Given the description of an element on the screen output the (x, y) to click on. 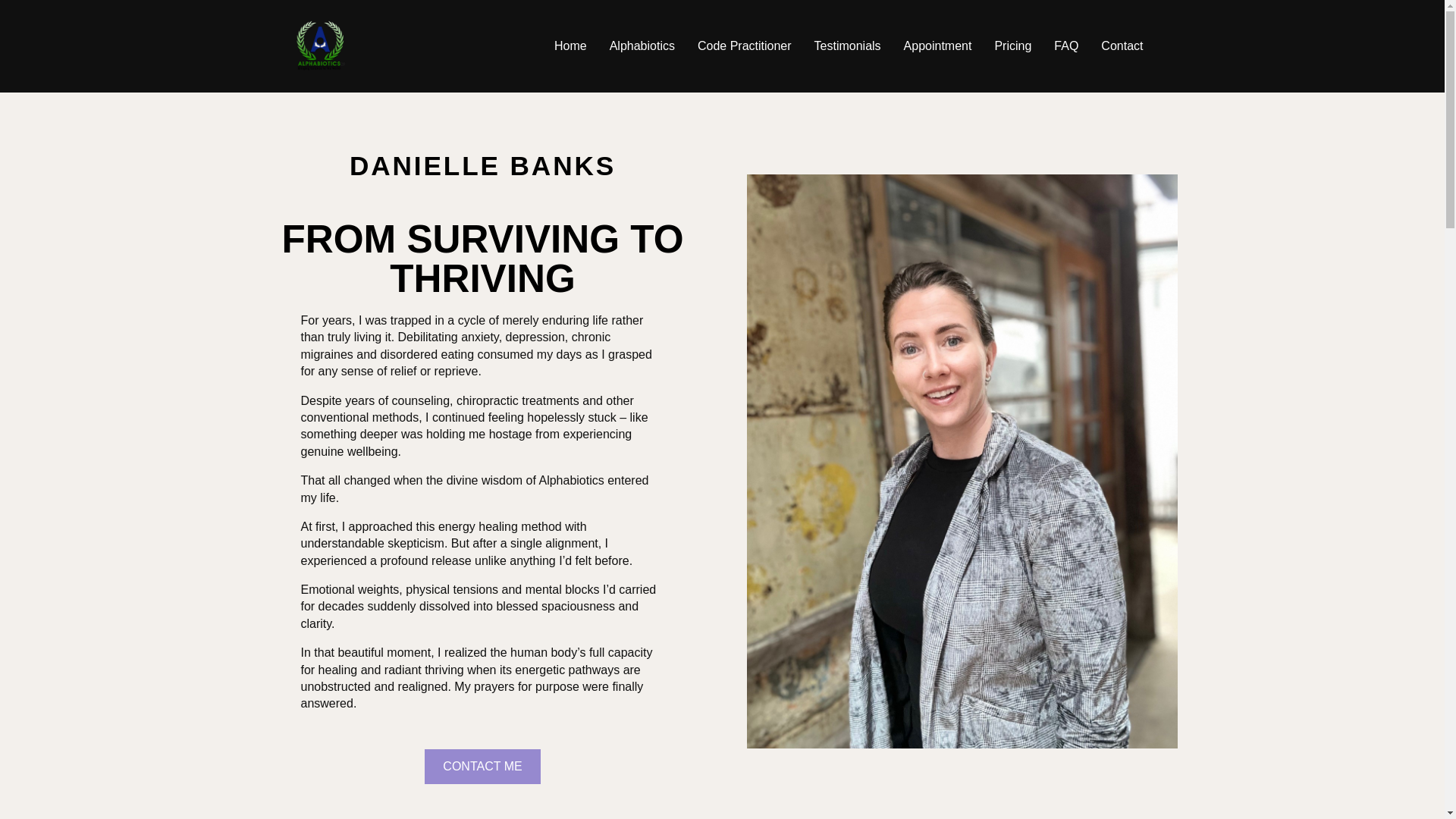
FAQ (1066, 45)
Contact (1121, 45)
Code Practitioner (744, 45)
Pricing (1012, 45)
CONTACT ME (482, 766)
Appointment (938, 45)
Testimonials (846, 45)
Alphabiotics (642, 45)
Home (570, 45)
